Given the description of an element on the screen output the (x, y) to click on. 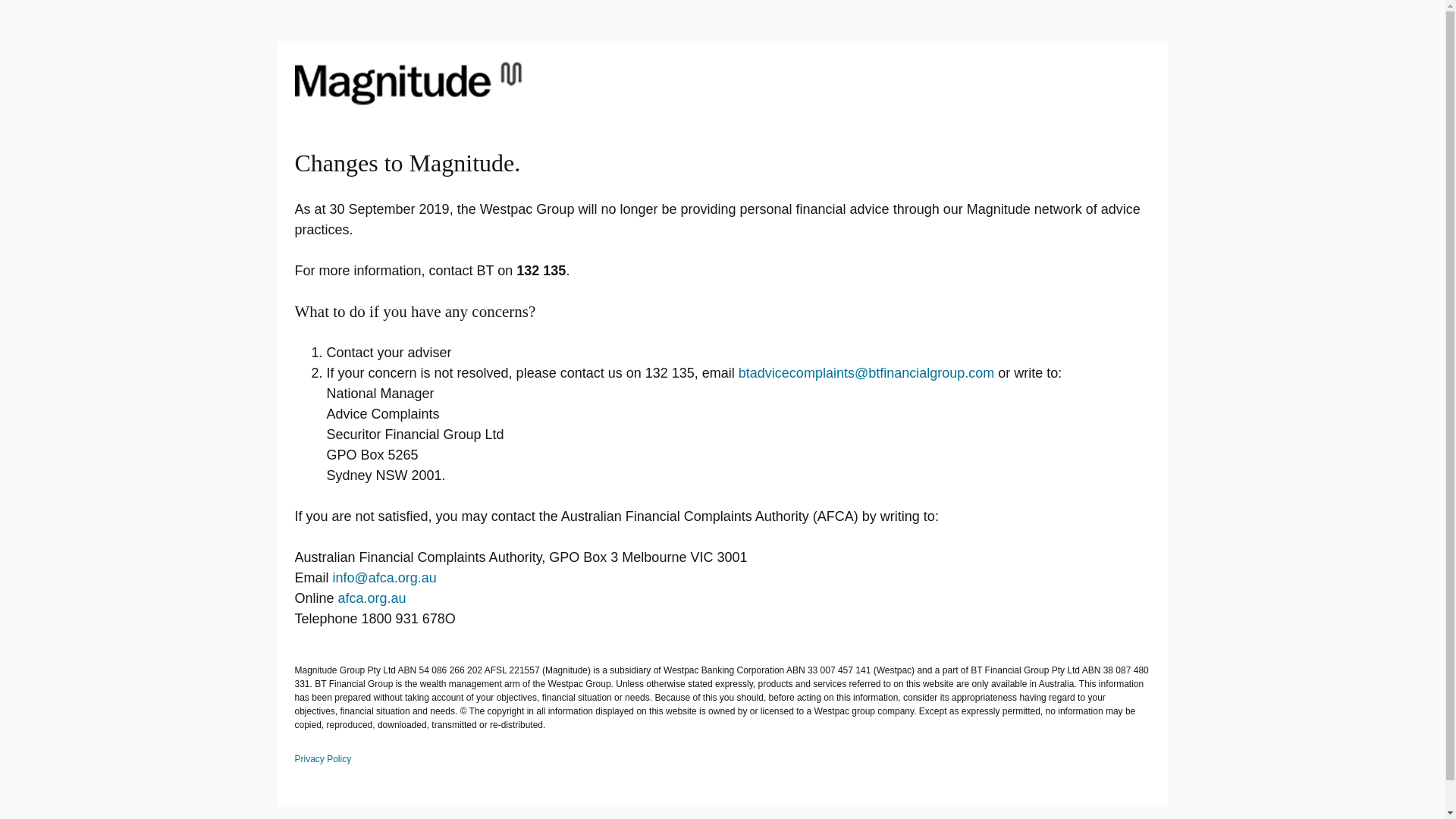
btadvicecomplaints@btfinancialgroup.com Element type: text (866, 372)
afca.org.au Element type: text (372, 597)
Privacy Policy Element type: text (721, 767)
info@afca.org.au Element type: text (384, 577)
